Given the description of an element on the screen output the (x, y) to click on. 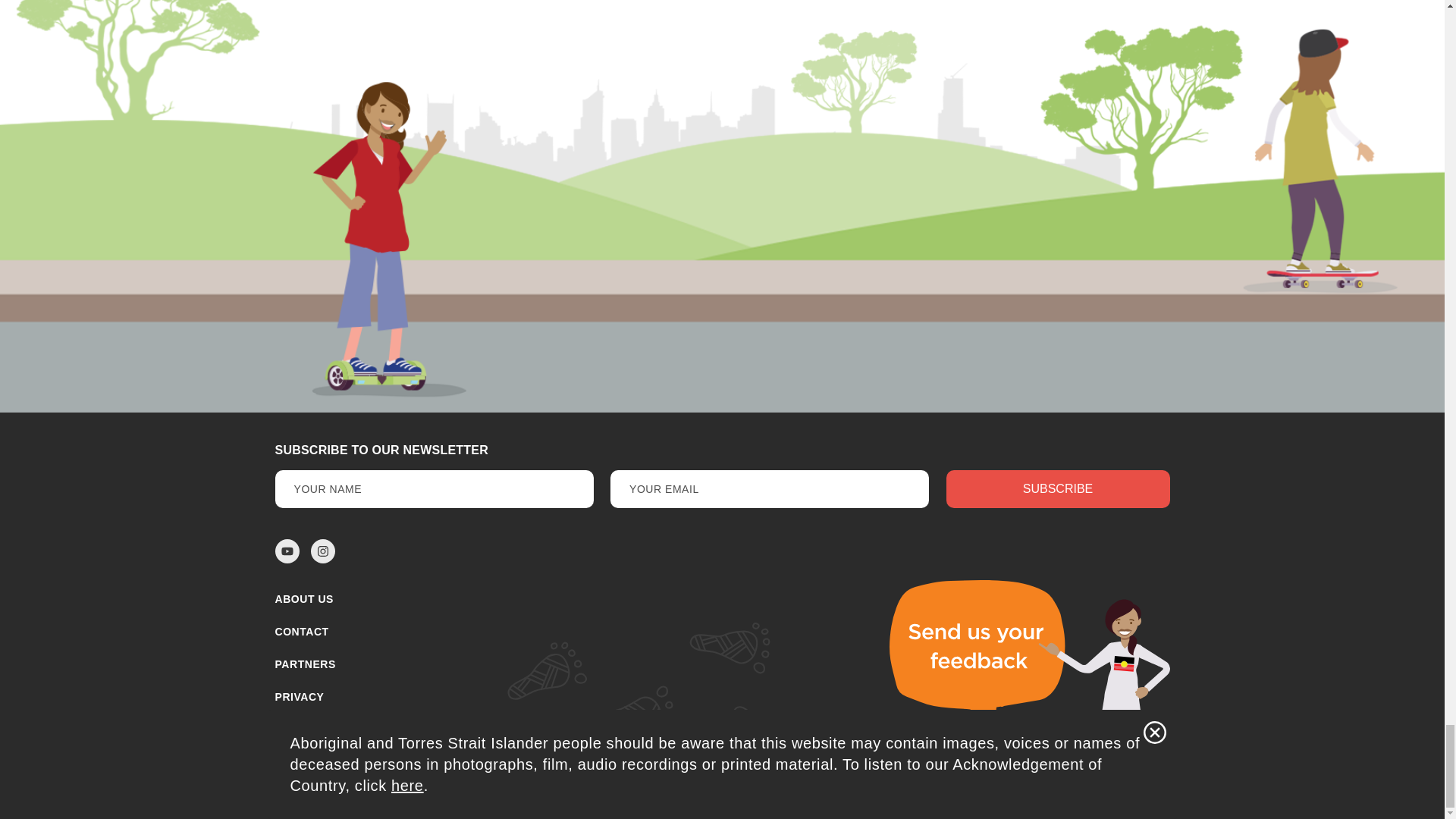
Subscribe (1058, 488)
